Given the description of an element on the screen output the (x, y) to click on. 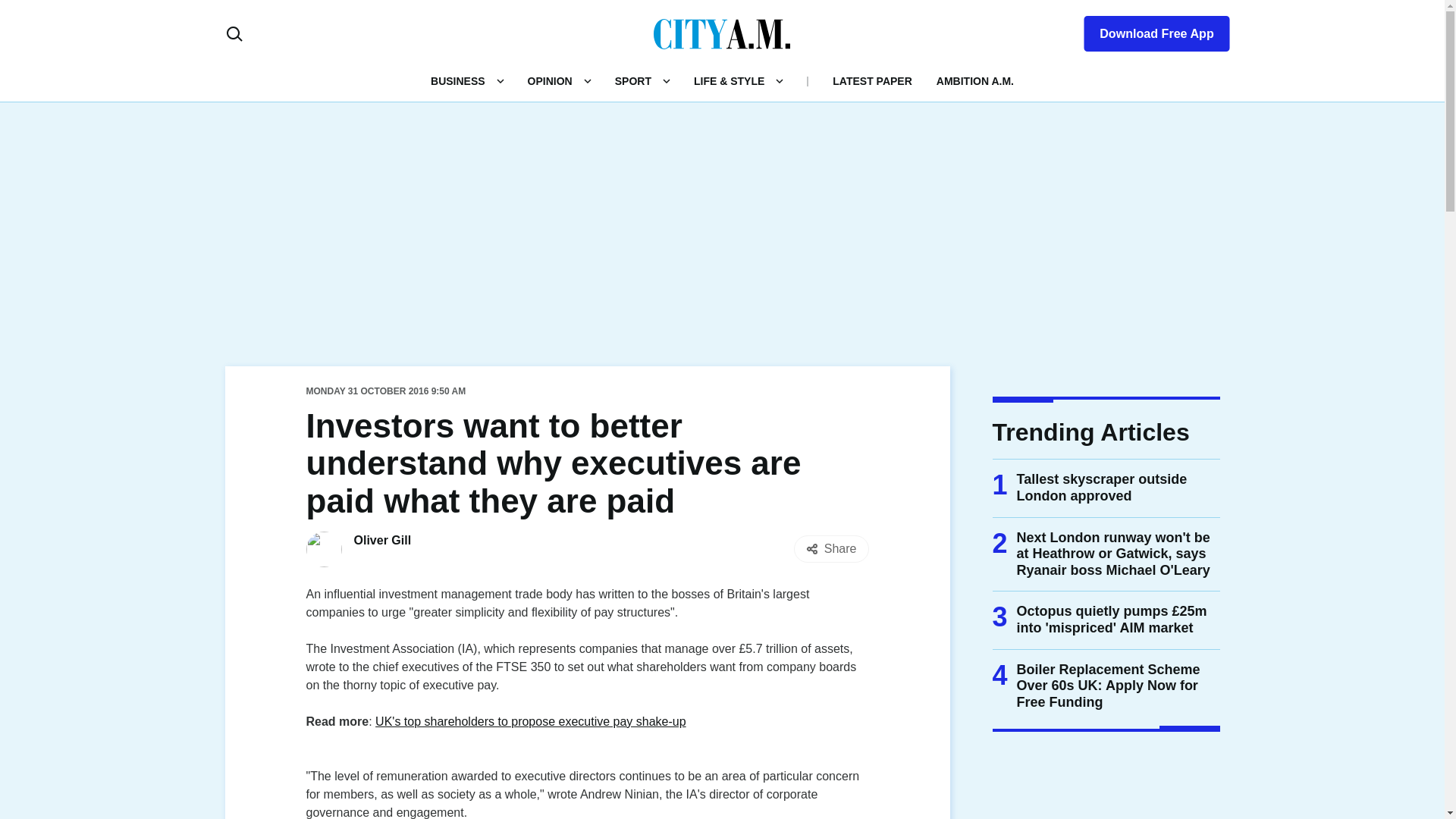
BUSINESS (457, 80)
OPINION (549, 80)
Download Free App (1146, 30)
SPORT (632, 80)
CityAM (721, 33)
